Given the description of an element on the screen output the (x, y) to click on. 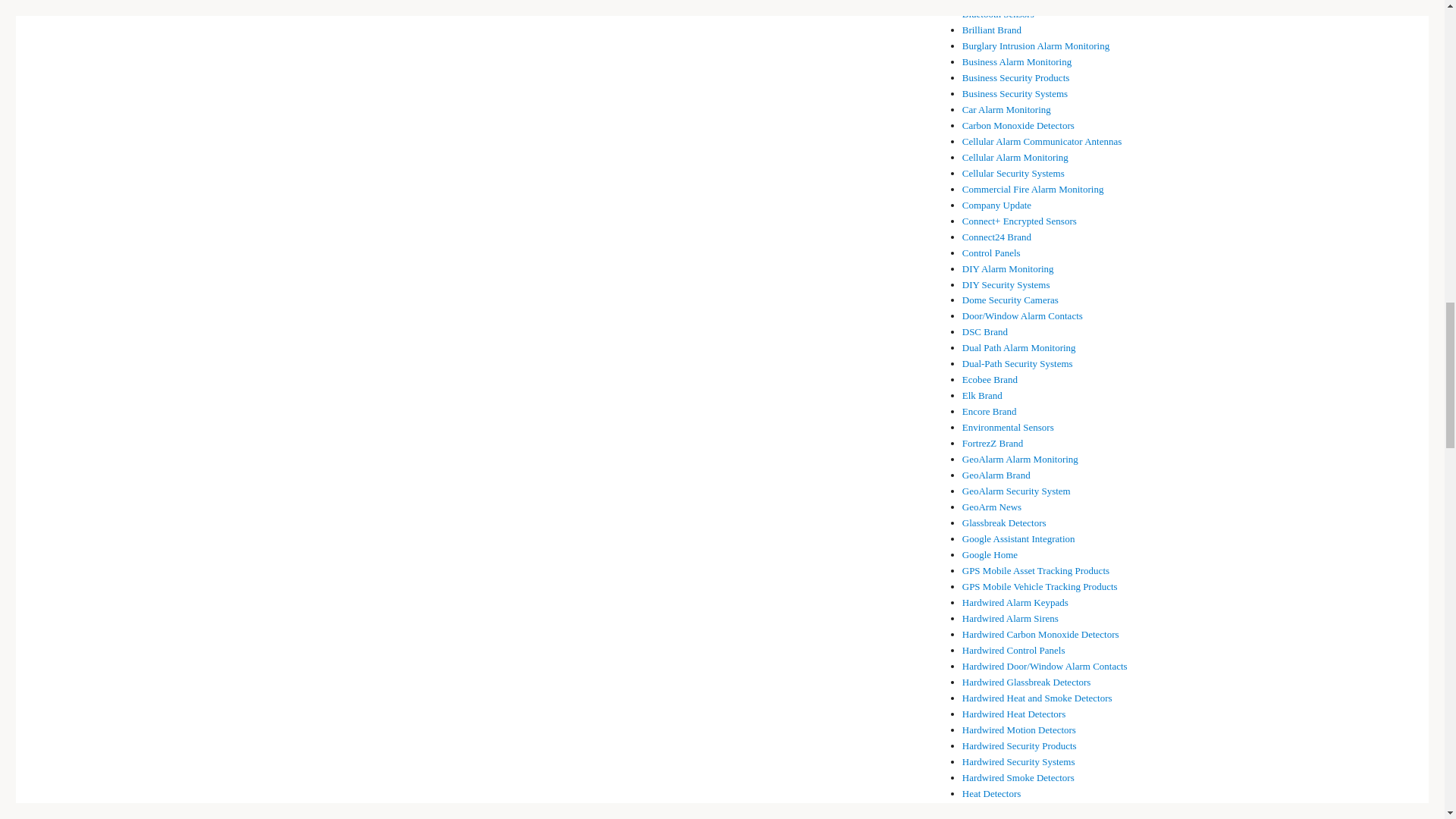
The GeoAlarm brand powered by GeoArm Security. (996, 474)
GeoAlarm alarm monitoring services powered by GeoArm. (1020, 459)
